Given the description of an element on the screen output the (x, y) to click on. 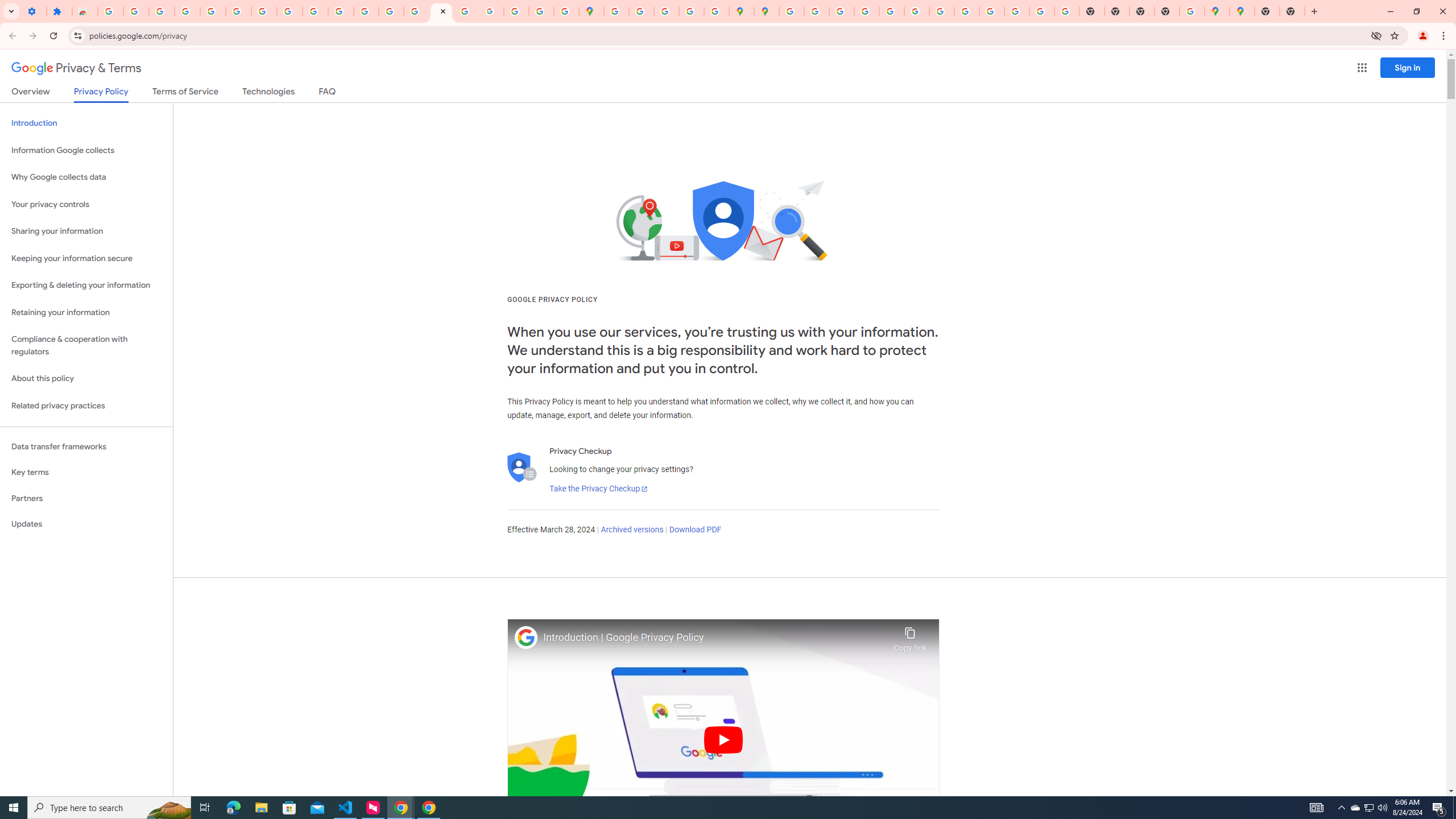
Terms of Service (184, 93)
Sharing your information (86, 230)
Retaining your information (86, 312)
Compliance & cooperation with regulators (86, 345)
Partners (86, 497)
Settings - On startup (34, 11)
Privacy Help Center - Policies Help (865, 11)
